Given the description of an element on the screen output the (x, y) to click on. 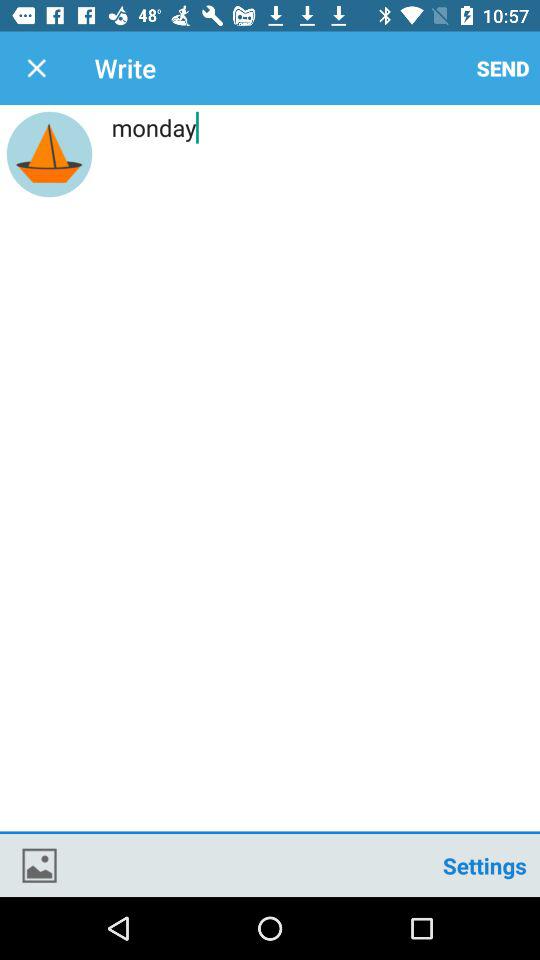
click the item at the bottom left corner (39, 864)
